Given the description of an element on the screen output the (x, y) to click on. 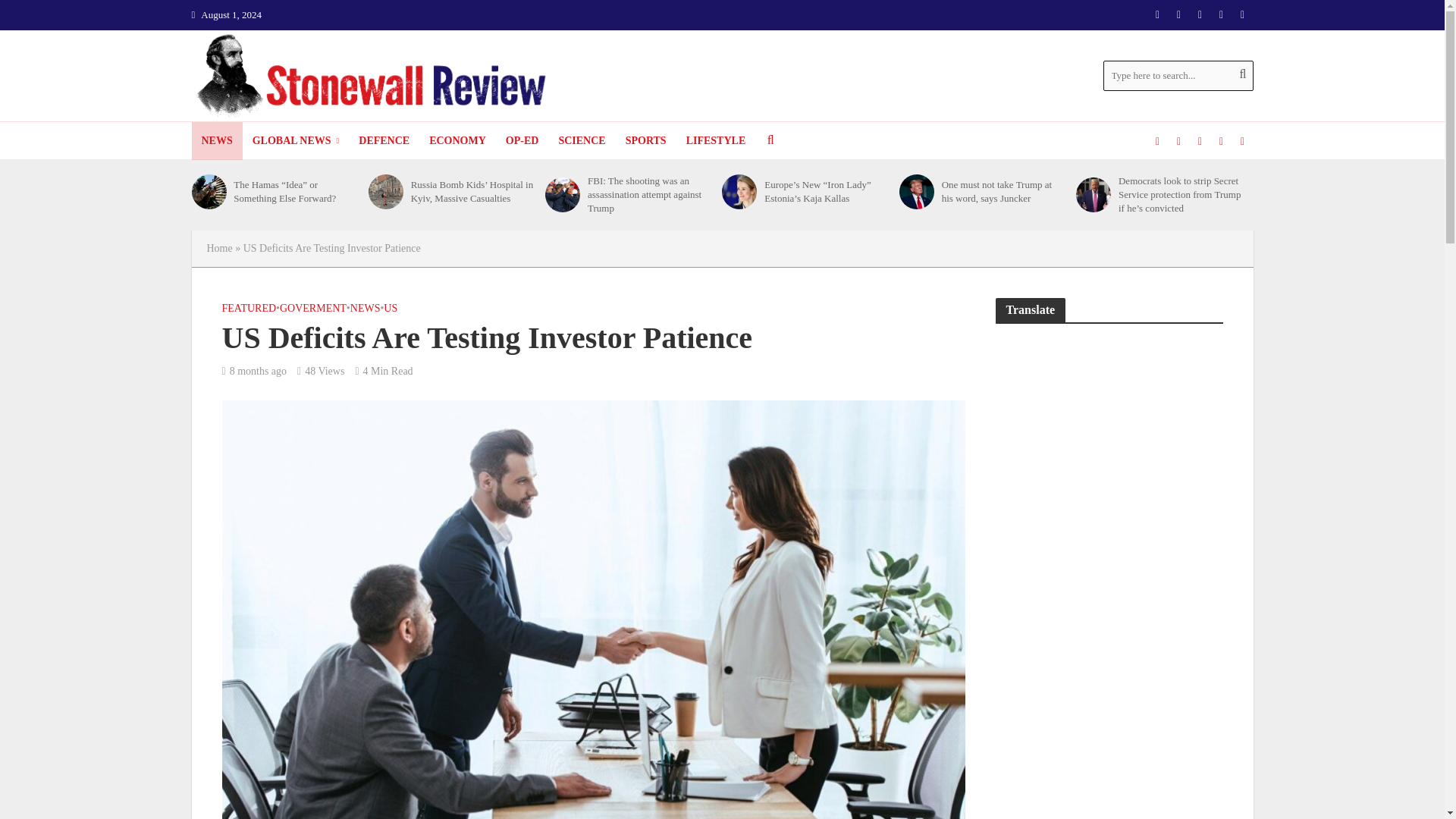
NEWS (215, 140)
One must not take Trump at his word, says Juncker (916, 191)
FBI: The shooting was an assassination attempt against Trump (561, 194)
GLOBAL NEWS (296, 140)
